Given the description of an element on the screen output the (x, y) to click on. 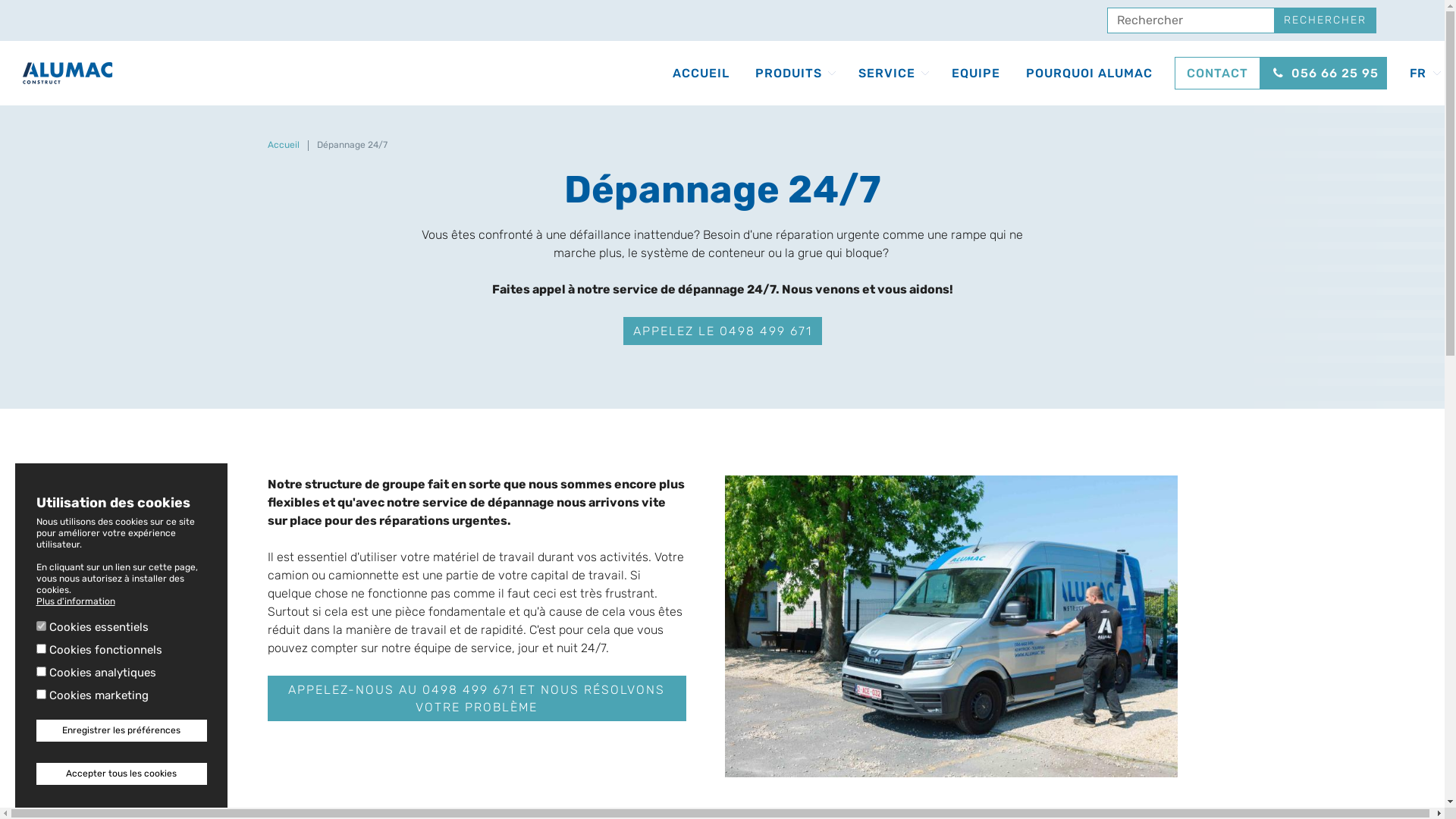
POURQUOI ALUMAC Element type: text (1089, 73)
Accueil Element type: text (282, 144)
CONTACT Element type: text (1217, 72)
056 66 25 95 Element type: text (1323, 72)
ACCUEIL Element type: text (700, 73)
RECHERCHER Element type: text (1325, 20)
Retirer le consentement Element type: text (114, 802)
Plus d'information Element type: text (75, 601)
EQUIPE Element type: text (975, 73)
Accepter tous les cookies Element type: text (121, 773)
Alumac Element type: text (68, 73)
FR Element type: text (1417, 73)
Aller au contenu principal Element type: text (0, 0)
